Given the description of an element on the screen output the (x, y) to click on. 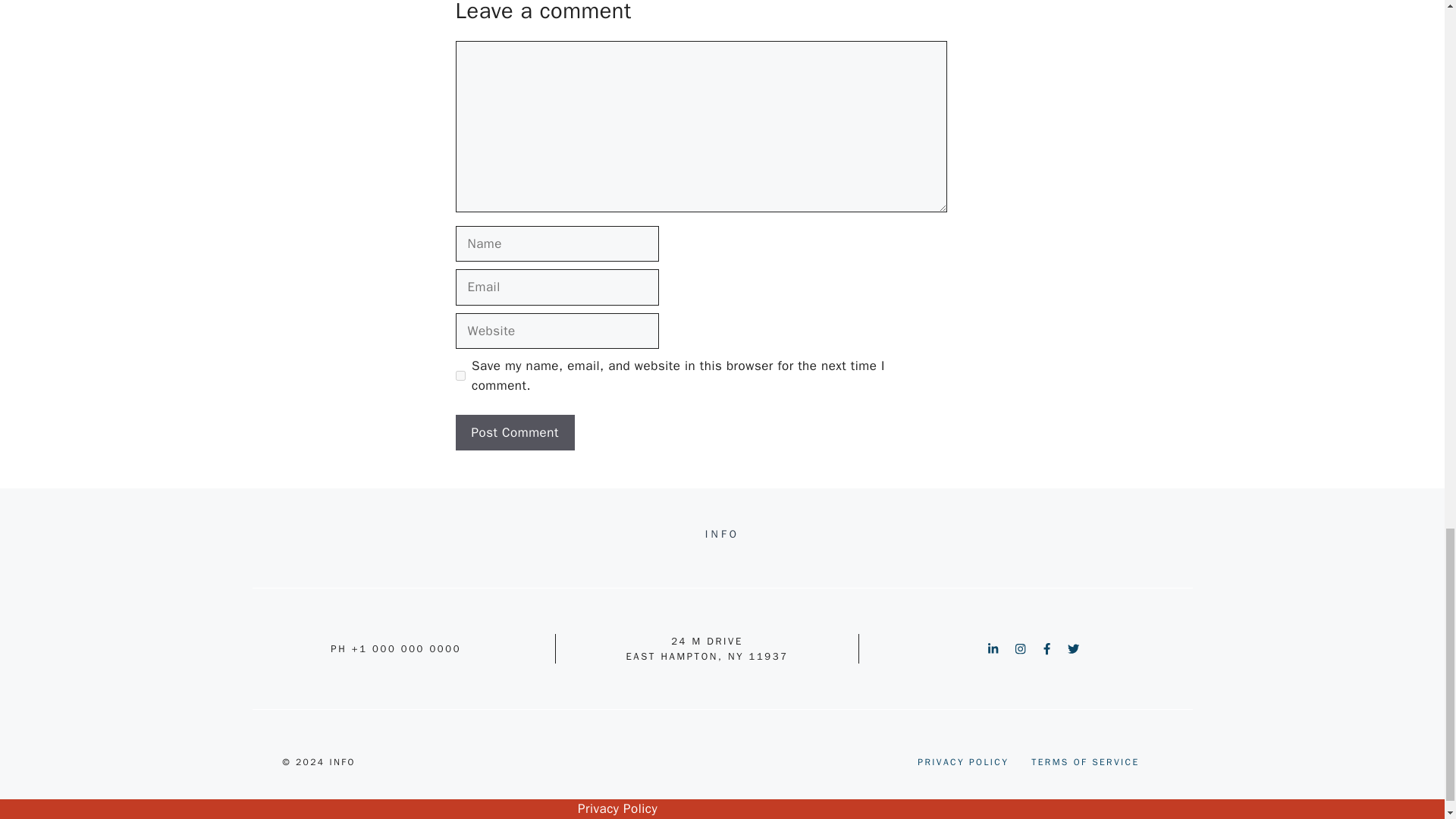
PRIVACY POLICY (963, 762)
Privacy Policy (618, 808)
Post Comment (513, 432)
TERMS OF SERVICE (1084, 762)
yes (459, 375)
Post Comment (513, 432)
